Given the description of an element on the screen output the (x, y) to click on. 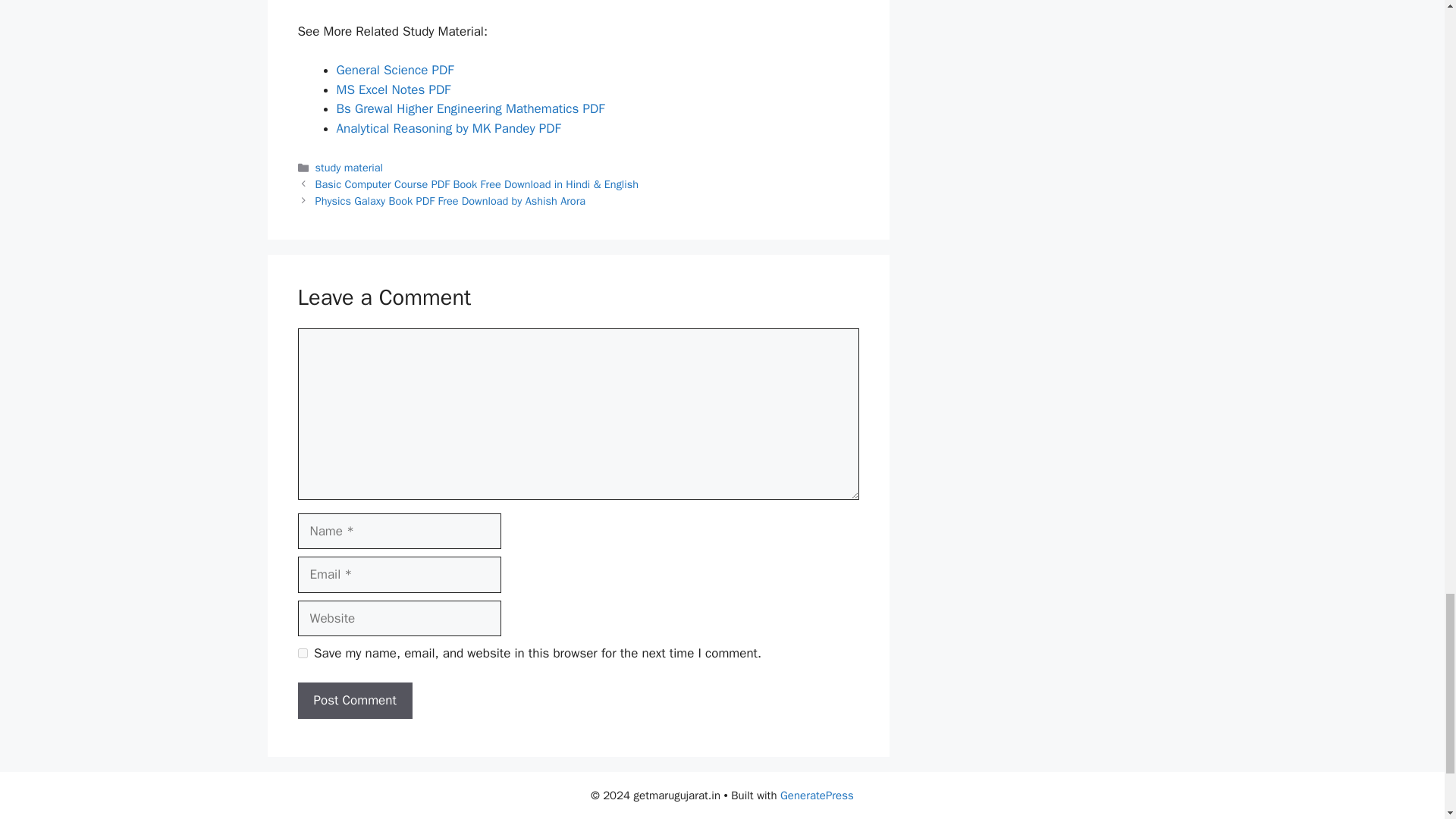
MS Excel Notes PDF (393, 89)
General Science PDF (395, 69)
Post Comment (354, 700)
study material (348, 167)
Bs Grewal Higher Engineering Mathematics PDF (470, 108)
Post Comment (354, 700)
Physics Galaxy Book PDF Free Download by Ashish Arora (450, 201)
Previous (477, 183)
Analytical Reasoning by MK Pandey PDF (448, 128)
GeneratePress (816, 795)
Next (450, 201)
yes (302, 653)
